Given the description of an element on the screen output the (x, y) to click on. 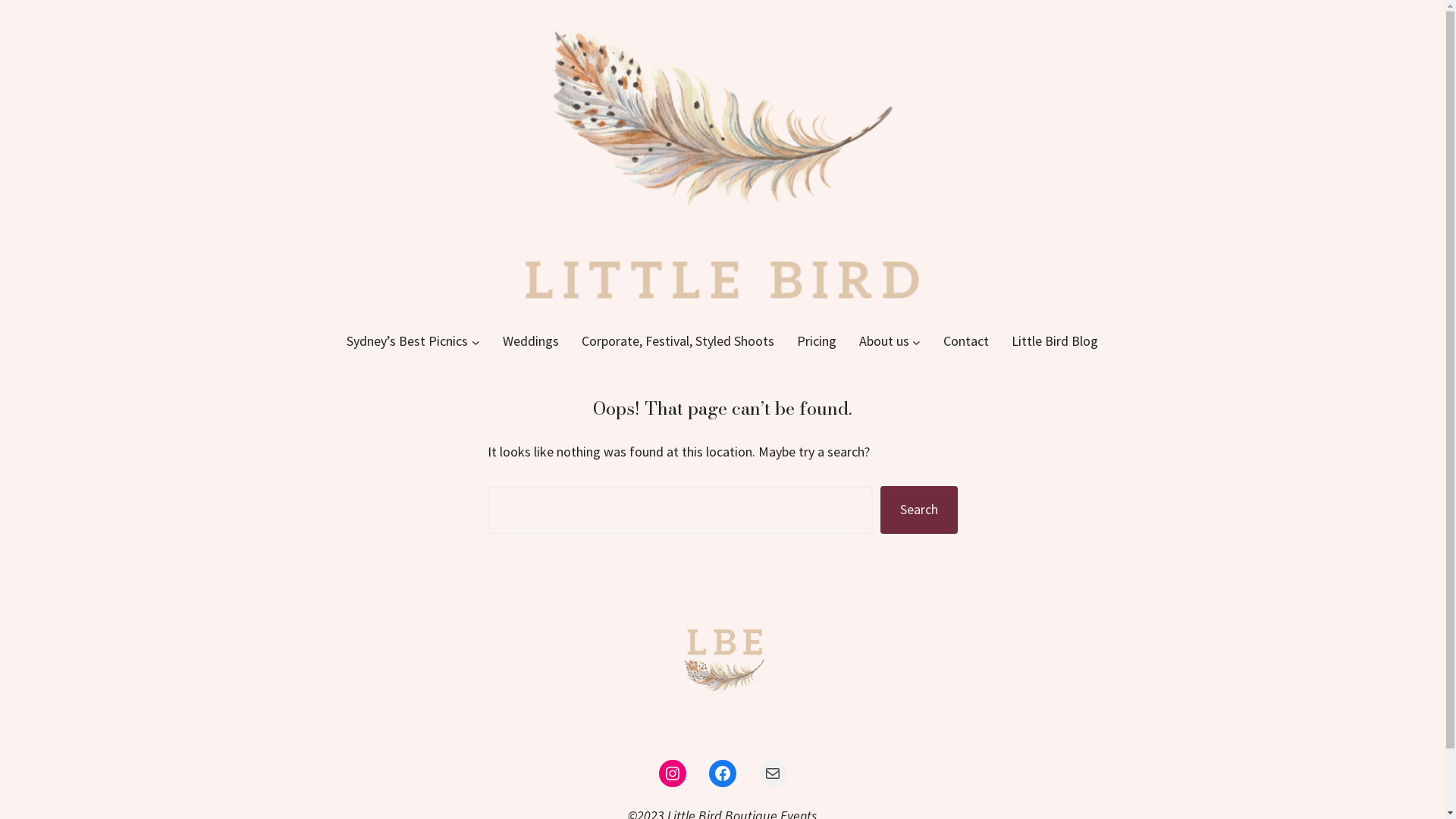
Contact Element type: text (965, 341)
Mail Element type: text (771, 773)
Instagram Element type: text (671, 773)
Facebook Element type: text (721, 773)
Pricing Element type: text (815, 341)
Weddings Element type: text (530, 341)
Search Element type: text (918, 509)
Corporate, Festival, Styled Shoots Element type: text (676, 341)
Little Bird Blog Element type: text (1054, 341)
About us Element type: text (883, 341)
